Given the description of an element on the screen output the (x, y) to click on. 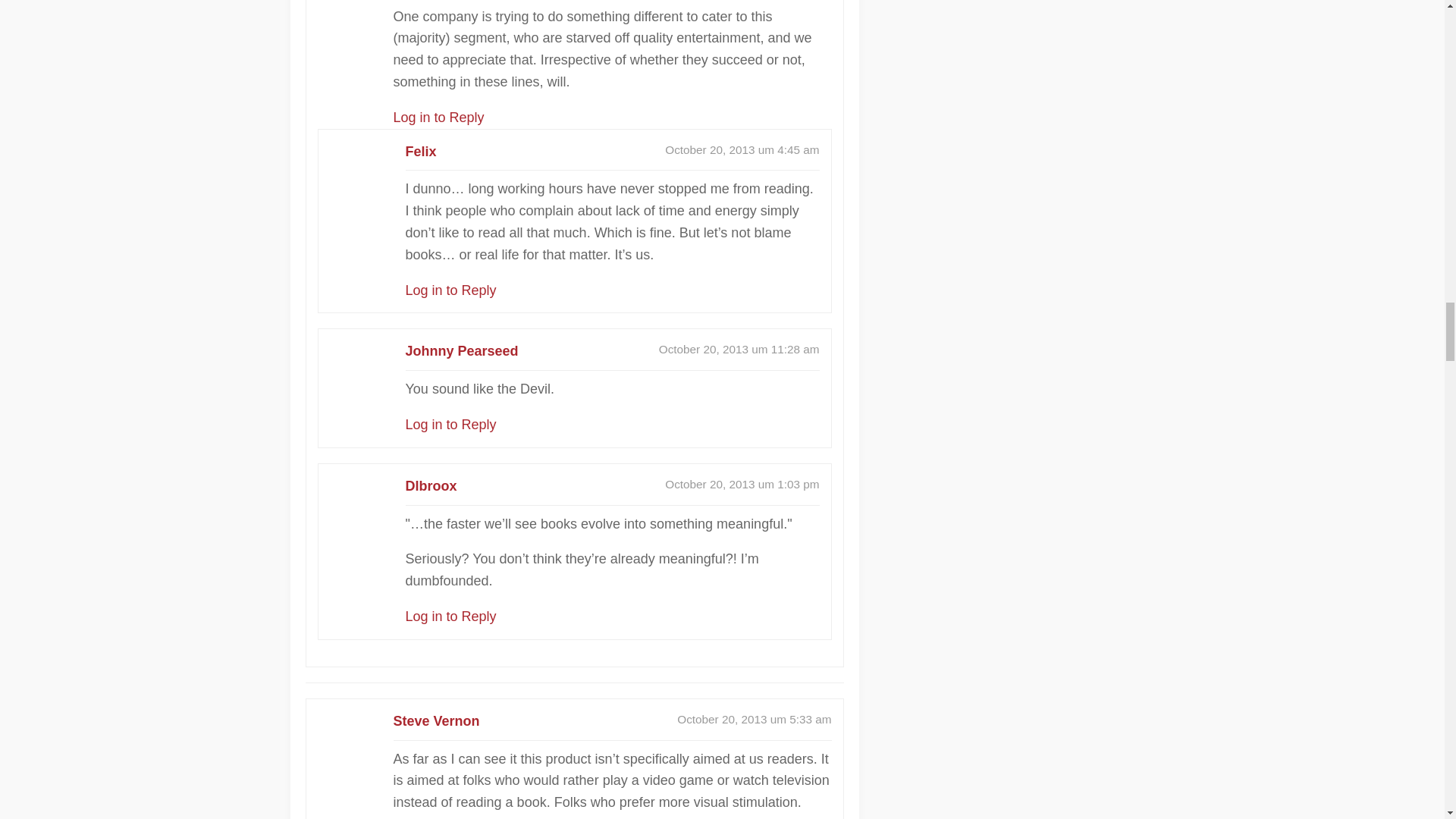
Log in to Reply (450, 616)
Log in to Reply (450, 290)
Log in to Reply (450, 424)
Log in to Reply (438, 117)
